Given the description of an element on the screen output the (x, y) to click on. 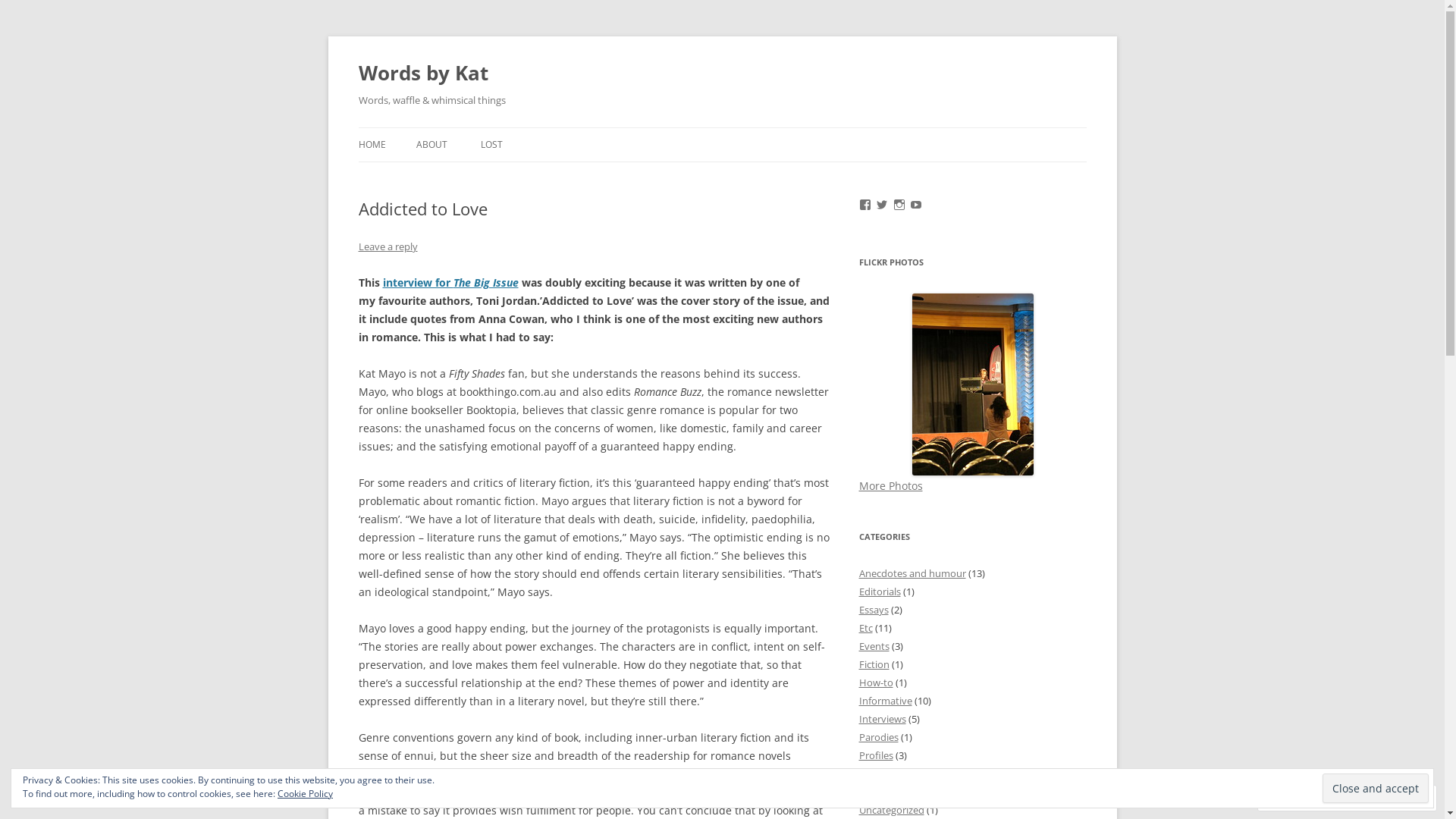
#RWAus15 keynote: Anita Heiss Element type: hover (971, 384)
interview for The Big Issue Element type: text (449, 282)
Anecdotes and humour Element type: text (911, 573)
LOST Element type: text (491, 144)
Close and accept Element type: text (1375, 788)
Profiles Element type: text (875, 755)
Fiction Element type: text (873, 664)
Skip to content Element type: text (721, 127)
ABOUT Element type: text (430, 144)
Comment Element type: text (1298, 797)
More Photos Element type: text (890, 485)
Cookie Policy Element type: text (304, 793)
Interviews Element type: text (881, 718)
HOME Element type: text (371, 144)
Shorts Element type: text (873, 791)
Reviews Element type: text (876, 773)
Uncategorized Element type: text (890, 809)
Essays Element type: text (873, 609)
Editorials Element type: text (879, 591)
Follow Element type: text (1374, 797)
How-to Element type: text (875, 682)
Events Element type: text (873, 645)
Parodies Element type: text (877, 736)
Words by Kat Element type: text (422, 72)
Leave a reply Element type: text (387, 246)
Etc Element type: text (865, 627)
Informative Element type: text (884, 700)
